Given the description of an element on the screen output the (x, y) to click on. 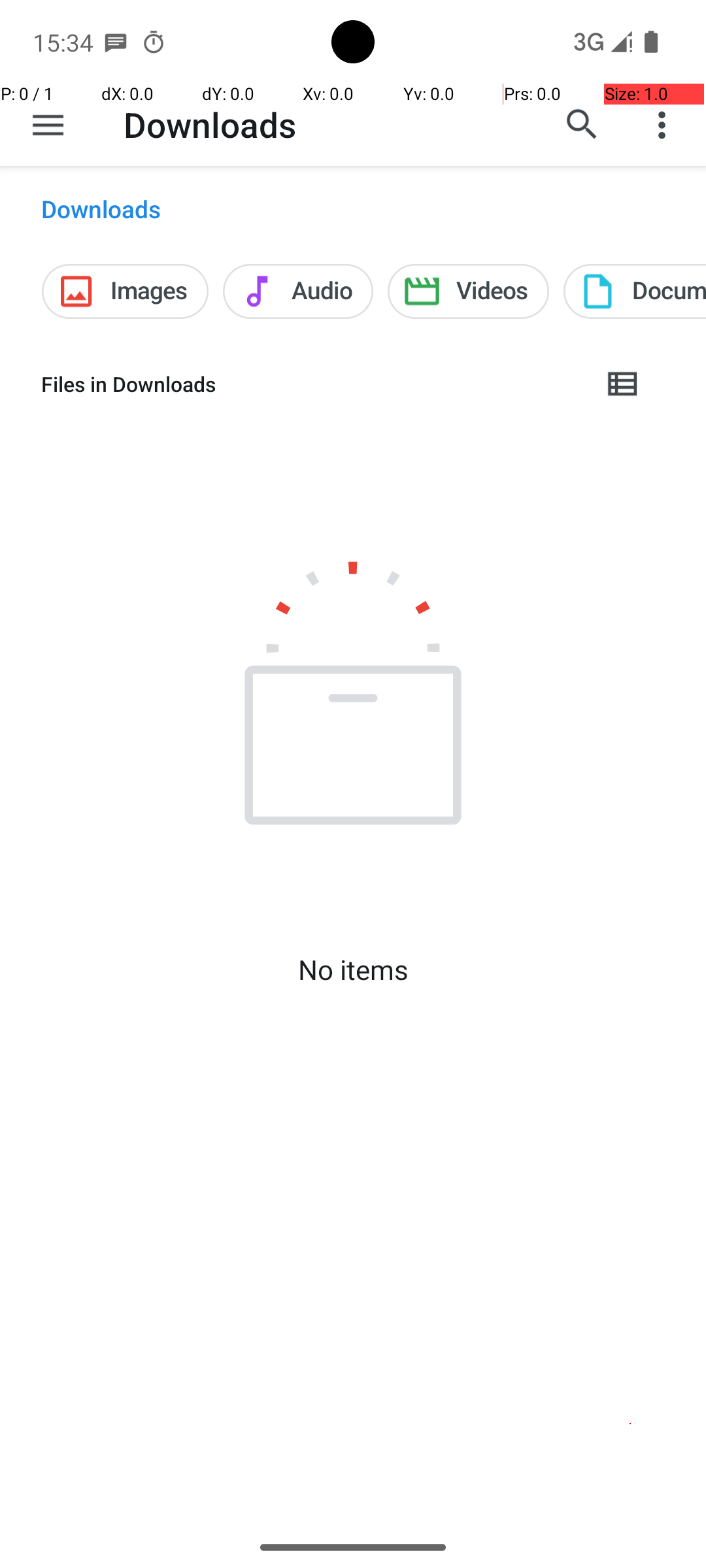
SMS Messenger notification: Amir dos Santos Element type: android.widget.ImageView (115, 41)
